Given the description of an element on the screen output the (x, y) to click on. 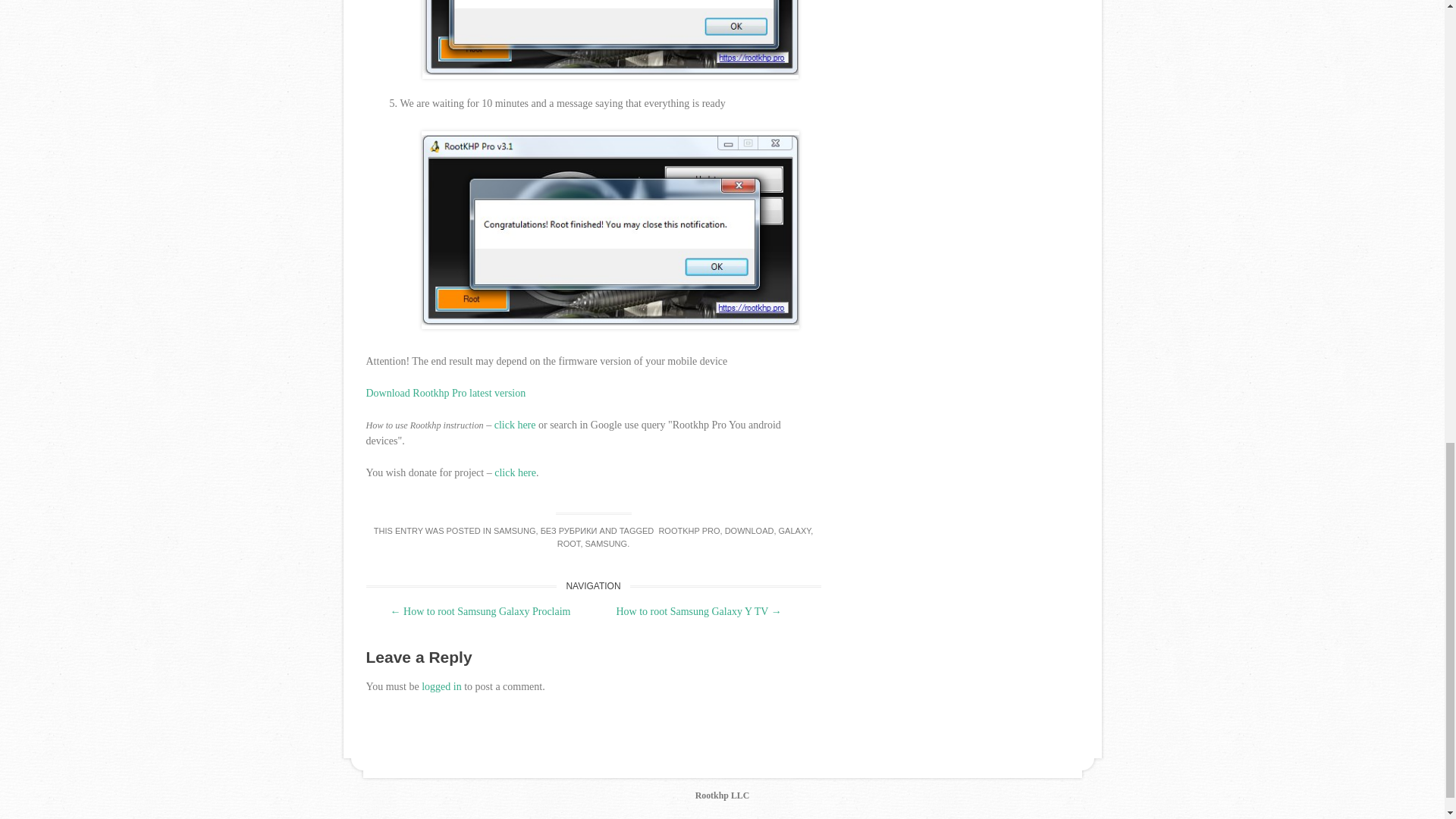
click here (515, 424)
logged in (441, 686)
 ROOTKHP PRO (687, 530)
GALAXY (794, 530)
SAMSUNG (514, 530)
SAMSUNG (606, 542)
DOWNLOAD (749, 530)
click here (515, 472)
